Given the description of an element on the screen output the (x, y) to click on. 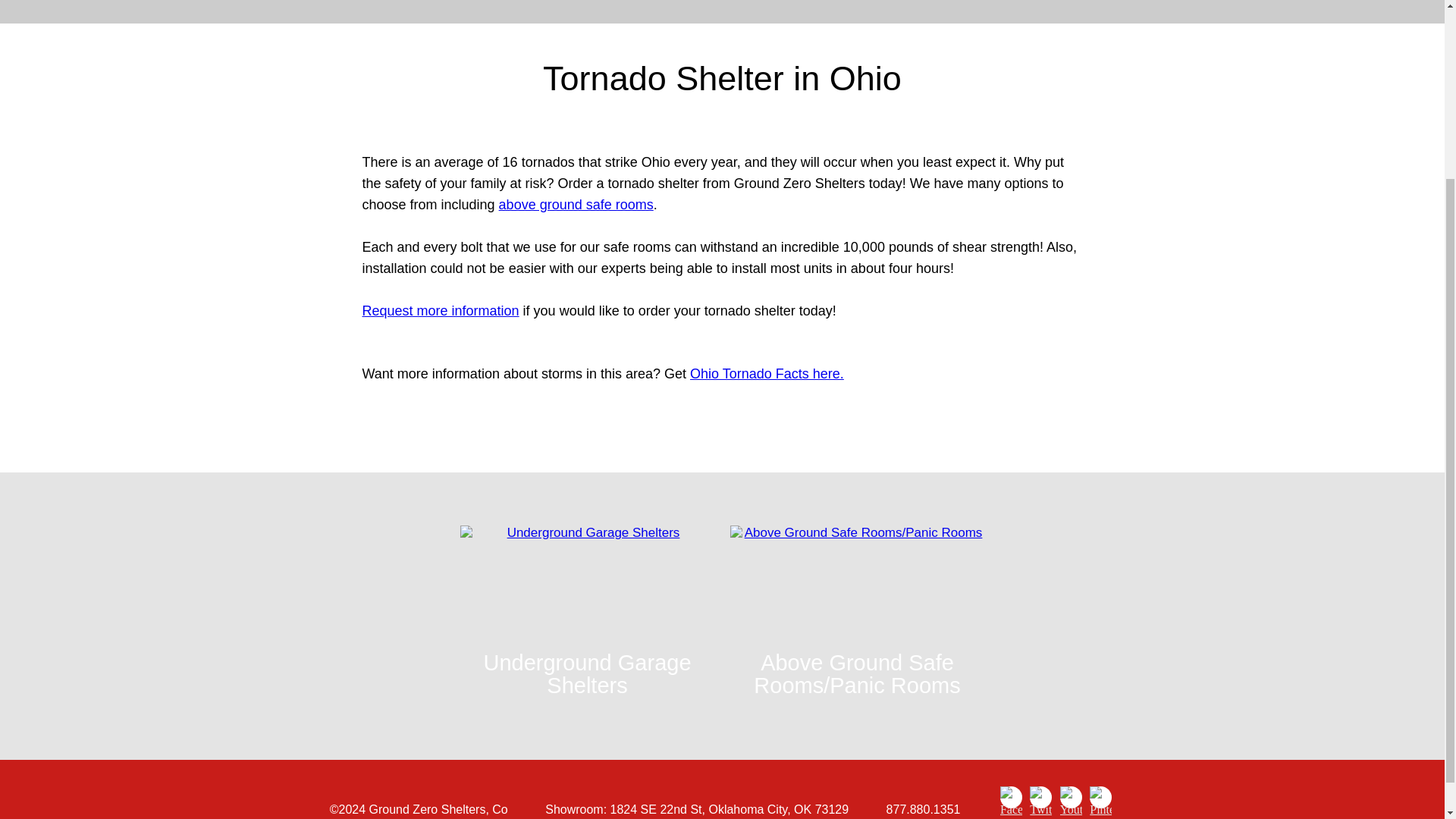
Underground Garage Shelters (587, 615)
Ohio Tornado Facts (749, 373)
here. (826, 373)
Showroom: 1824 SE 22nd St, Oklahoma City, OK 73129 (696, 809)
Request more information (440, 310)
REQUEST MORE INFORMATION (830, 428)
above ground safe rooms (576, 204)
877.880.1351 (923, 809)
ORDER YOUR SHELTER TODAY (612, 428)
